Given the description of an element on the screen output the (x, y) to click on. 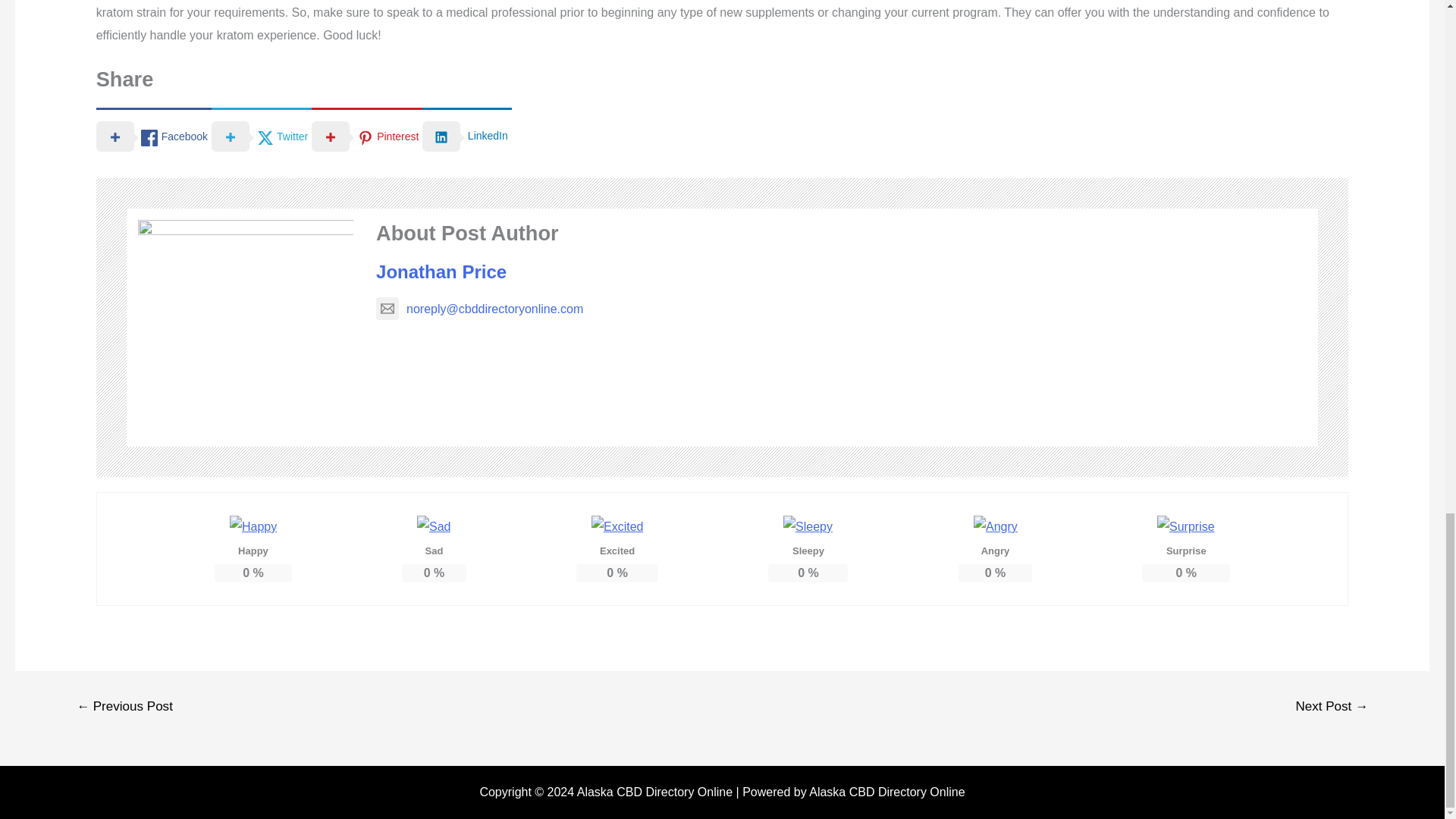
LinkedIn (466, 134)
Facebook (153, 134)
Twitter (261, 134)
Jonathan Price (440, 271)
Pinterest (366, 134)
